Given the description of an element on the screen output the (x, y) to click on. 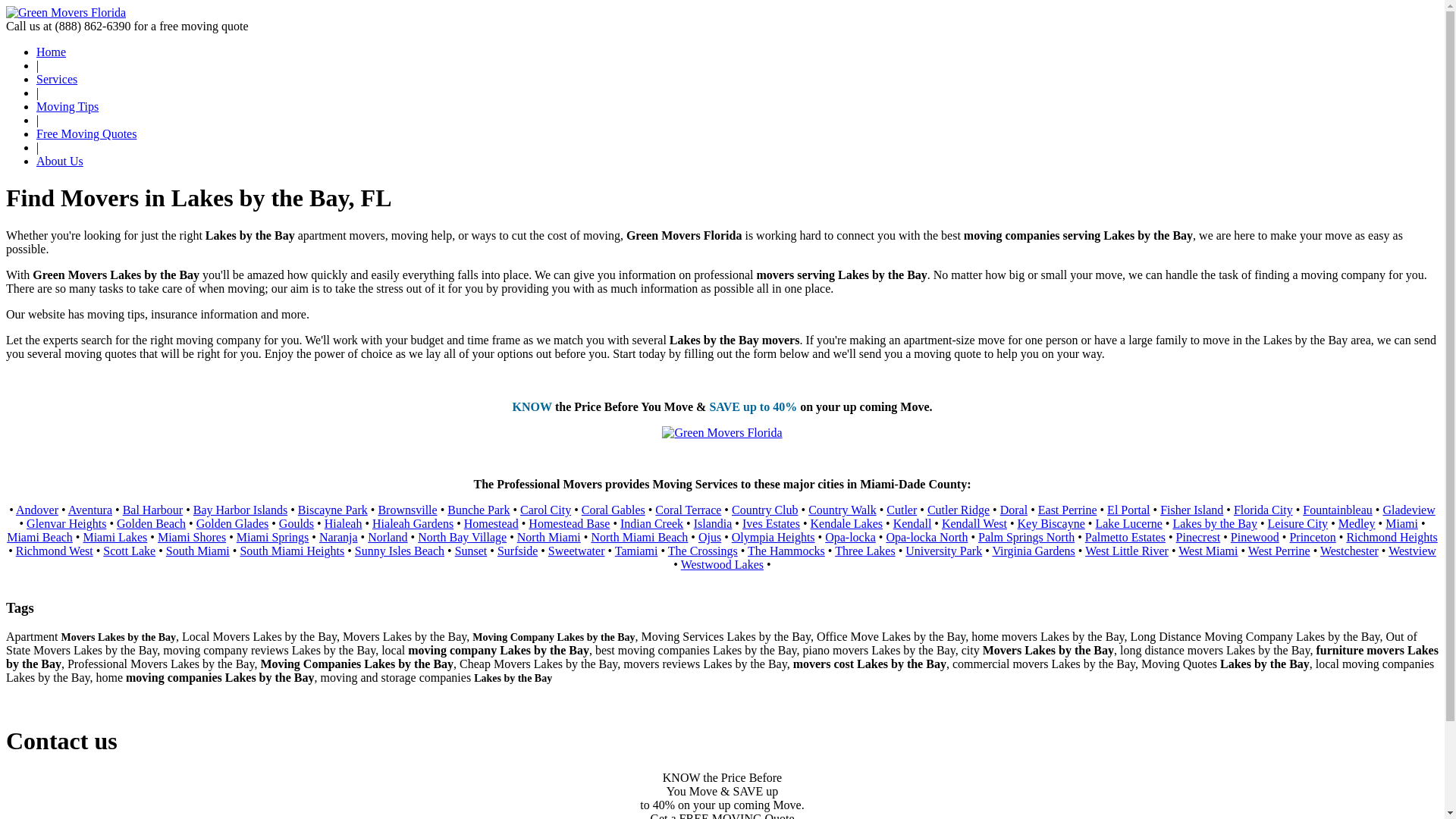
Glenvar Heights (66, 522)
Fisher Island (1191, 509)
Moving Tips (67, 106)
Coral Gables (612, 509)
Country Walk (842, 509)
Hialeah (343, 522)
Andover (37, 509)
Fountainbleau (1338, 509)
Ives Estates (770, 522)
Aventura (90, 509)
Home (50, 51)
Homestead (491, 522)
Doral (1013, 509)
Biscayne Park (333, 509)
Homestead Base (569, 522)
